Given the description of an element on the screen output the (x, y) to click on. 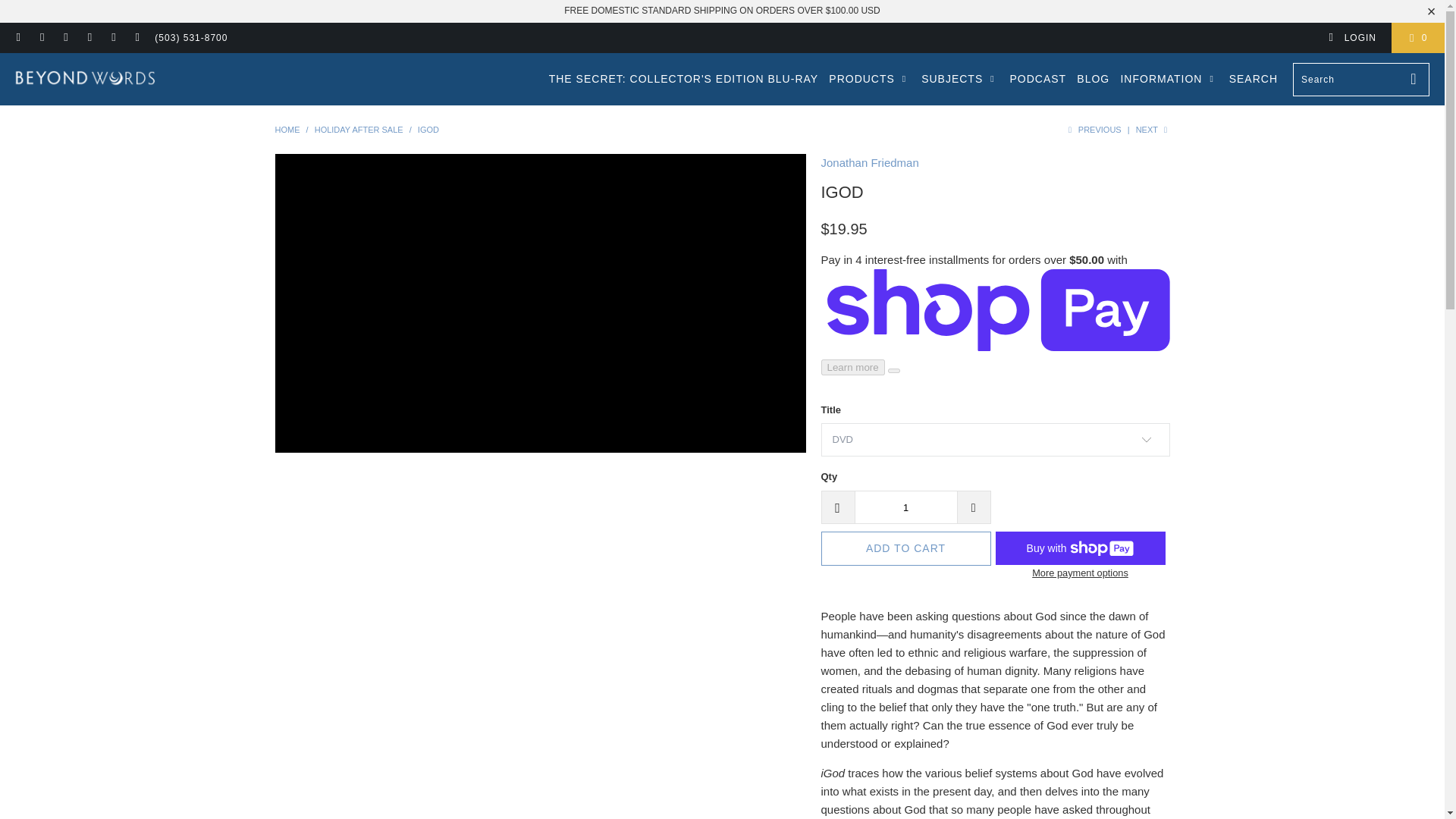
Previous (1092, 129)
Beyond Words Publishing on Pinterest (65, 37)
Beyond Words Publishing on Facebook (17, 37)
Beyond Words Publishing (287, 129)
1 (904, 507)
Beyond Words Publishing on YouTube (41, 37)
My Account  (1351, 37)
Holiday After Sale (358, 129)
Email Beyond Words Publishing (136, 37)
Next (1152, 129)
